Given the description of an element on the screen output the (x, y) to click on. 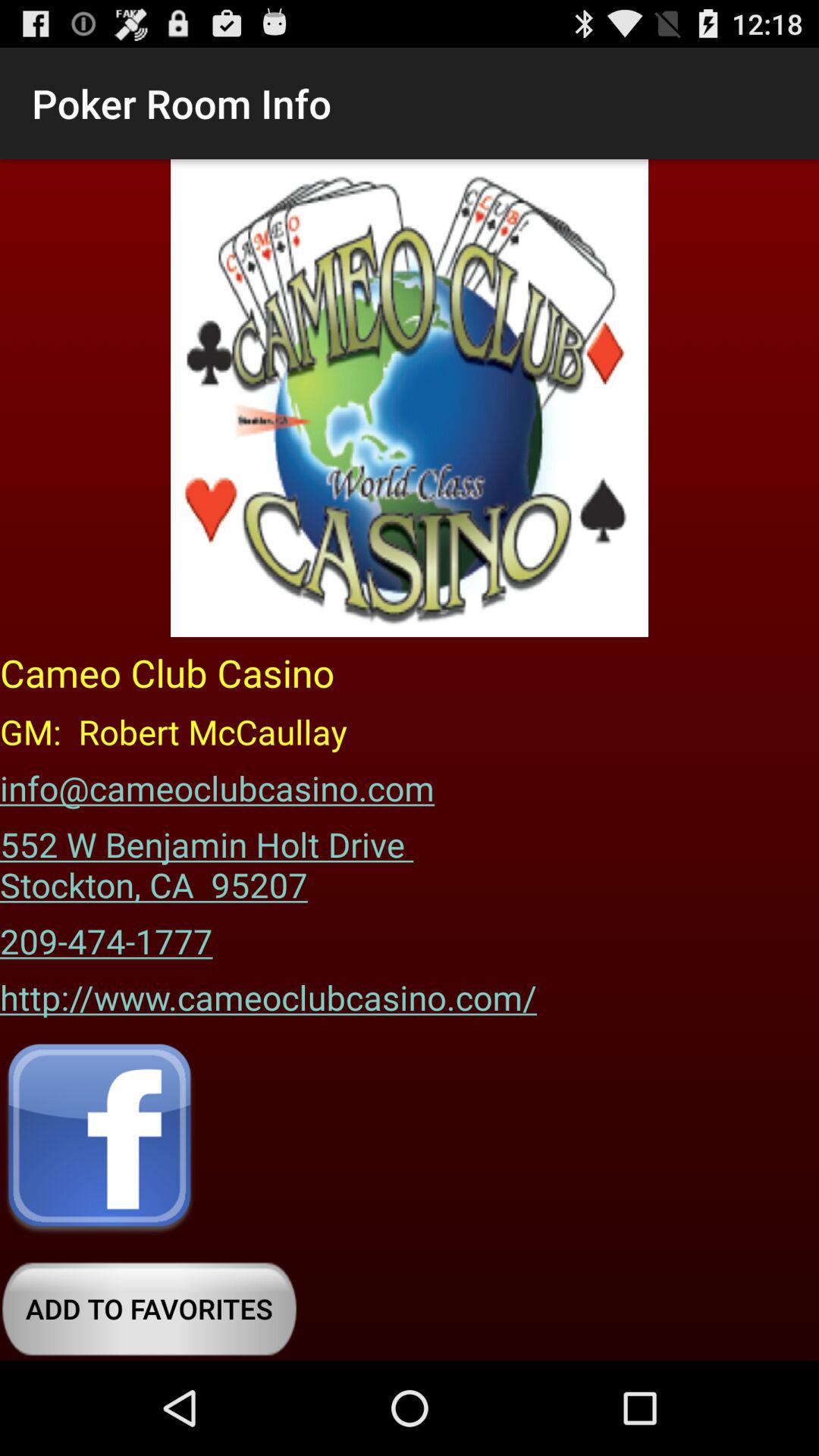
jump until the add to favorites icon (149, 1308)
